Given the description of an element on the screen output the (x, y) to click on. 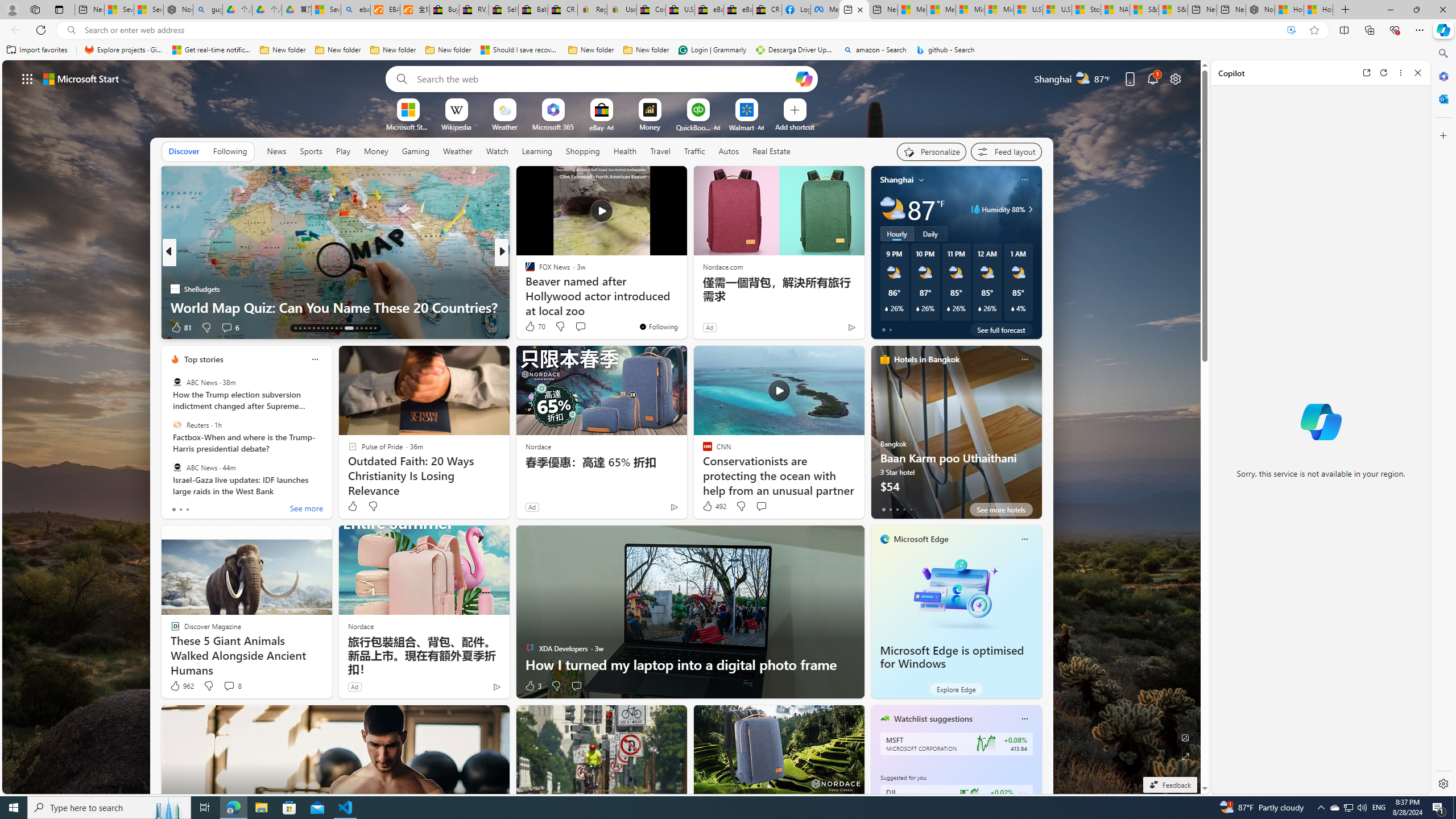
Feedback (1169, 784)
Traffic (694, 151)
github - Search (945, 49)
Class: follow-button  m (1021, 795)
Class: weather-arrow-glyph (1029, 208)
Edit Background (1185, 737)
11 Like (530, 327)
Travel (660, 151)
Microsoft Edge is optimised for Windows (952, 657)
81 Like (180, 327)
amazon - Search (875, 49)
AutomationID: tab-19 (322, 328)
Sell worldwide with eBay (502, 9)
Reuters (176, 424)
